Given the description of an element on the screen output the (x, y) to click on. 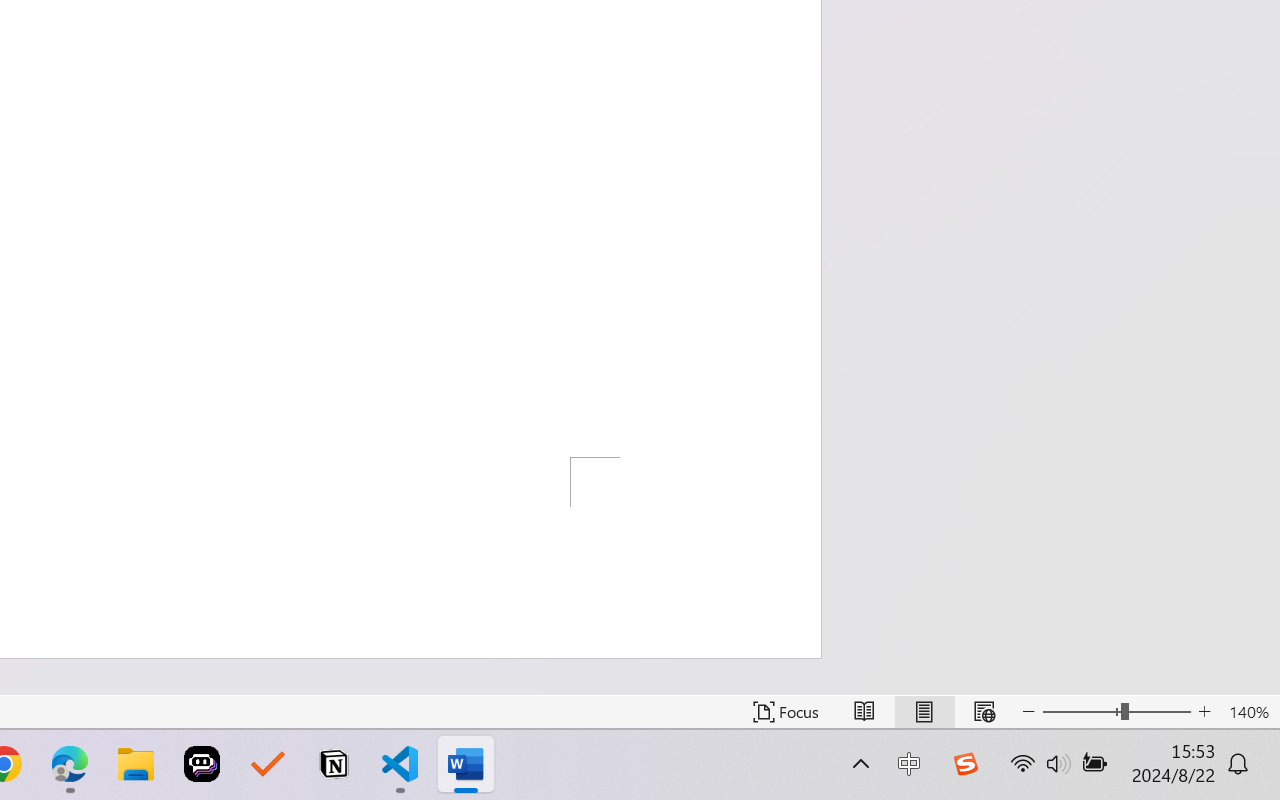
Poe (201, 764)
Zoom In (1204, 712)
Web Layout (984, 712)
Focus  (786, 712)
